Given the description of an element on the screen output the (x, y) to click on. 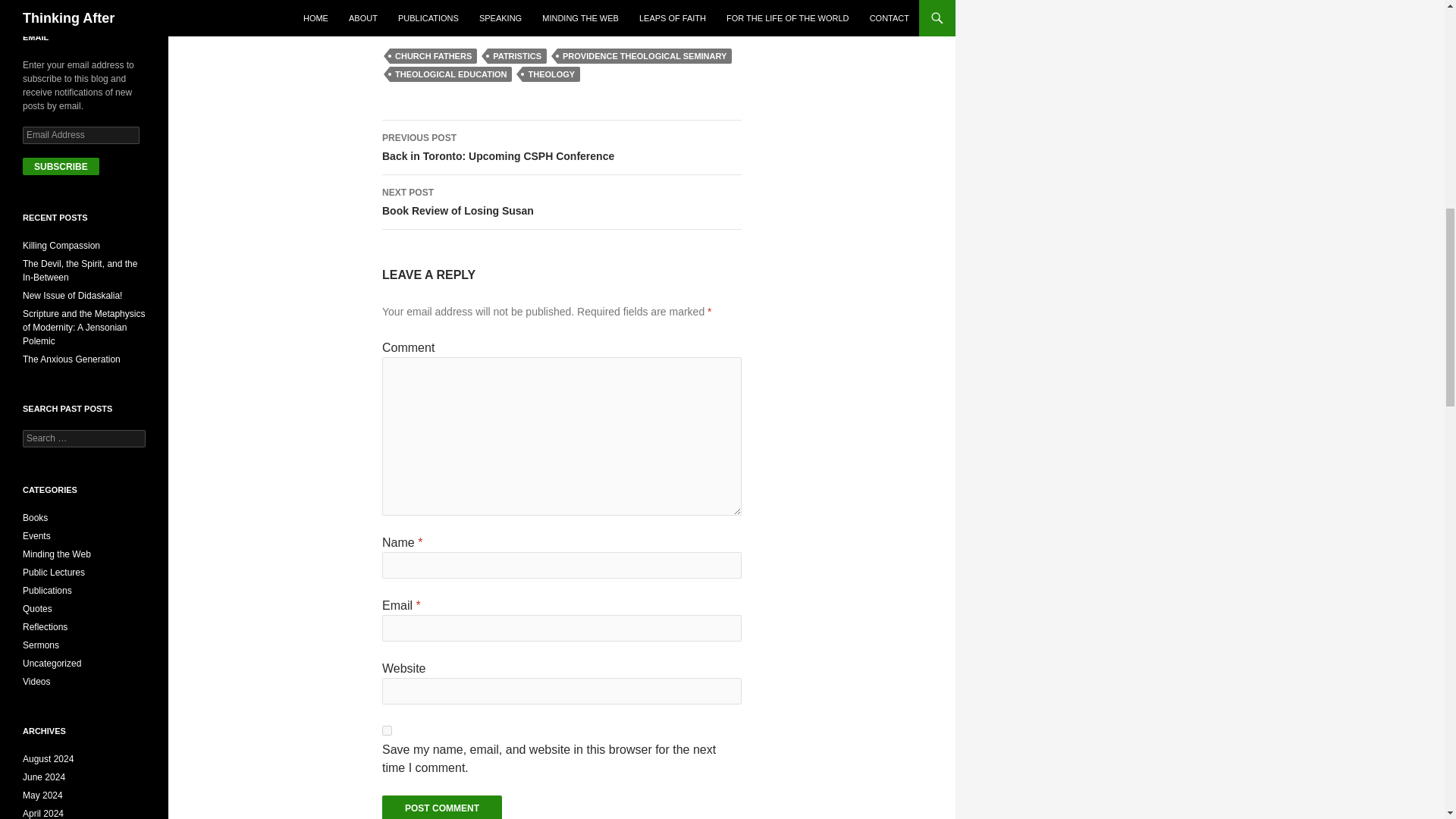
Post Comment (441, 807)
PATRISTICS (517, 55)
New Issue of Didaskalia! (72, 295)
THEOLOGICAL EDUCATION (561, 202)
PROVIDENCE THEOLOGICAL SEMINARY (451, 73)
CHURCH FATHERS (644, 55)
Public Lectures (433, 55)
THEOLOGY (53, 572)
